Given the description of an element on the screen output the (x, y) to click on. 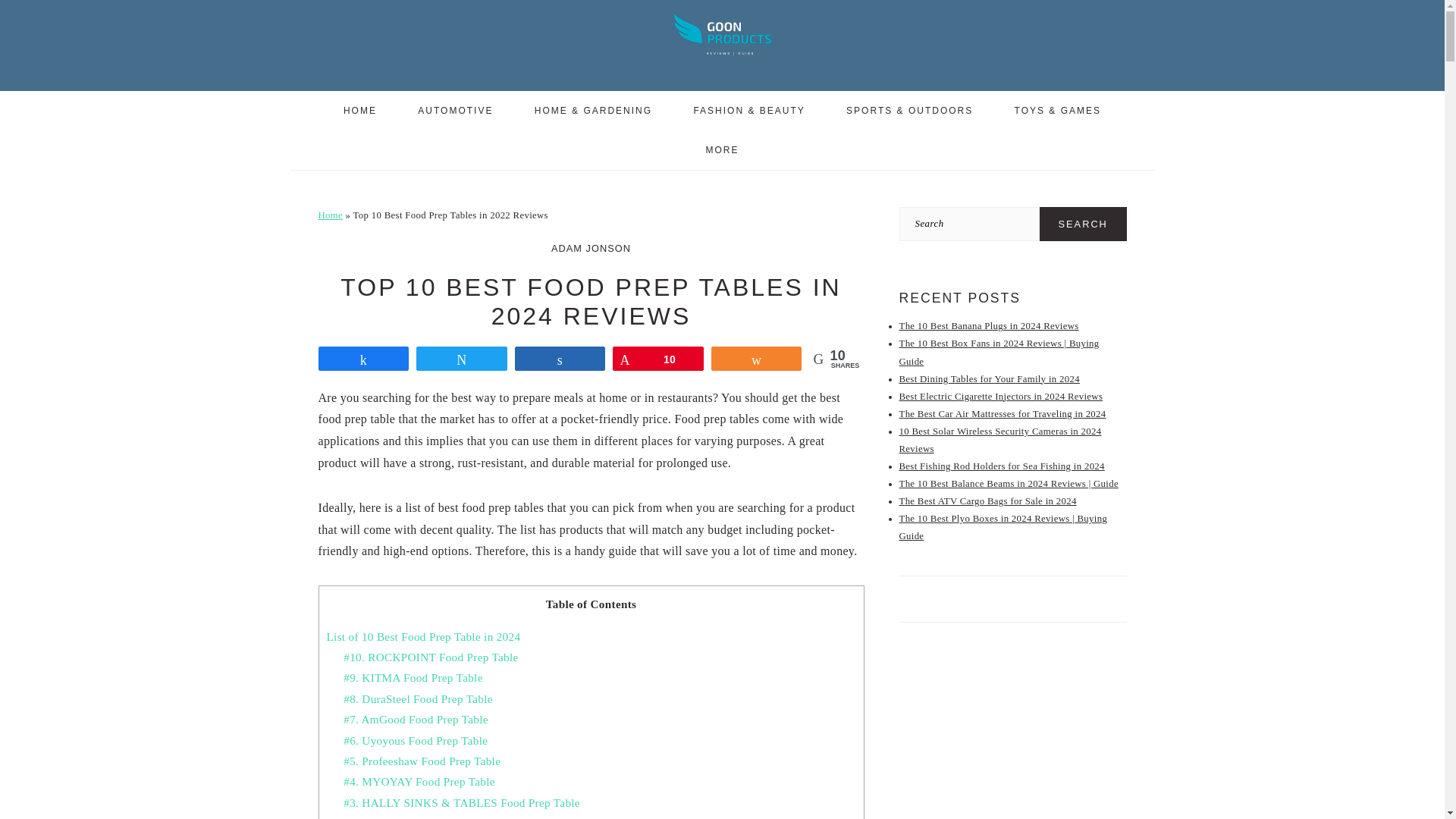
AUTOMOTIVE (455, 110)
10 (657, 358)
GoOnProducts (721, 59)
Search (1082, 223)
Home (330, 214)
List of 10 Best Food Prep Table in 2024 (422, 635)
HOME (360, 110)
GoOnProducts (721, 33)
MORE (722, 149)
Search (1082, 223)
